Given the description of an element on the screen output the (x, y) to click on. 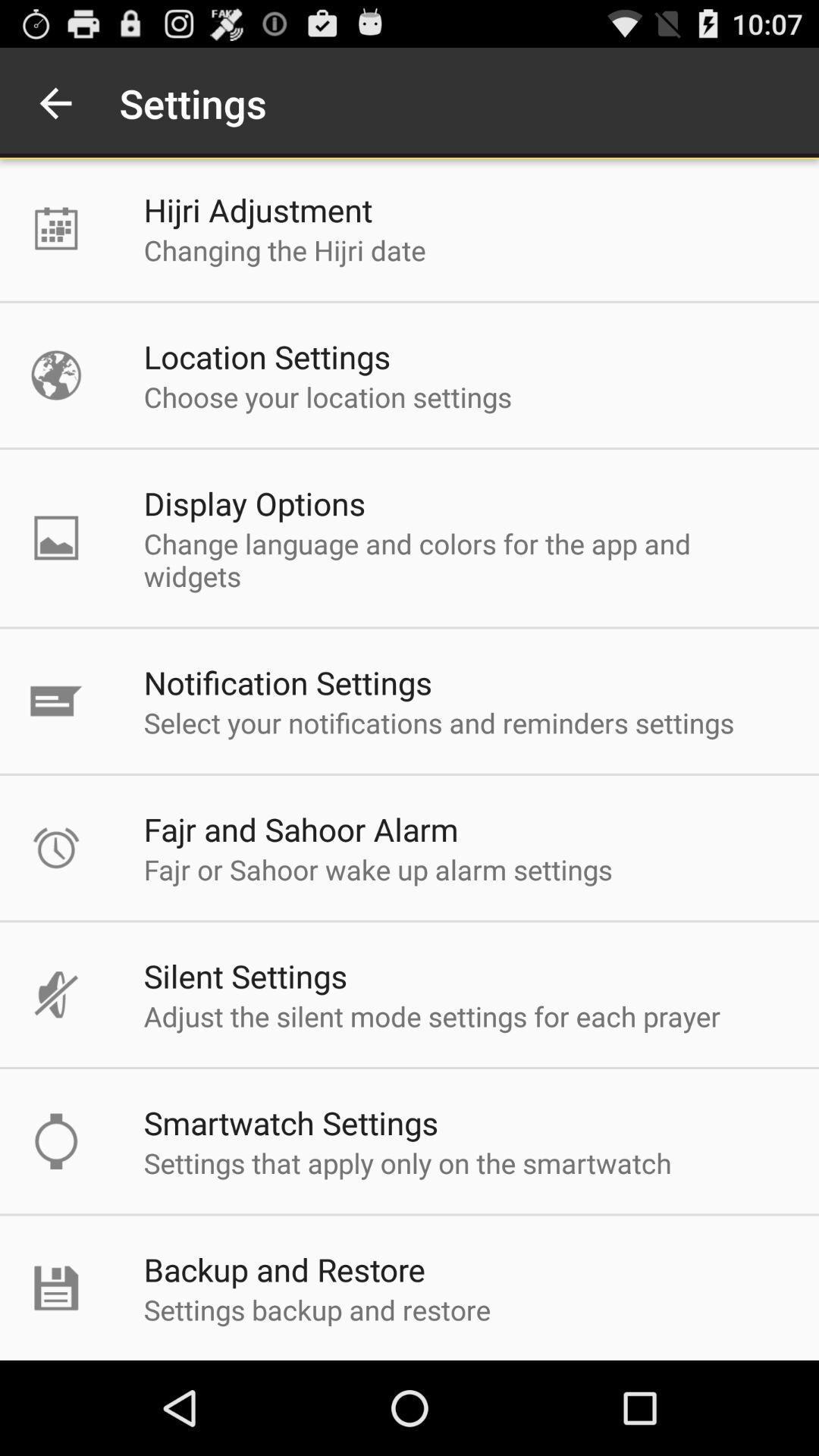
scroll until the settings that apply (407, 1162)
